Given the description of an element on the screen output the (x, y) to click on. 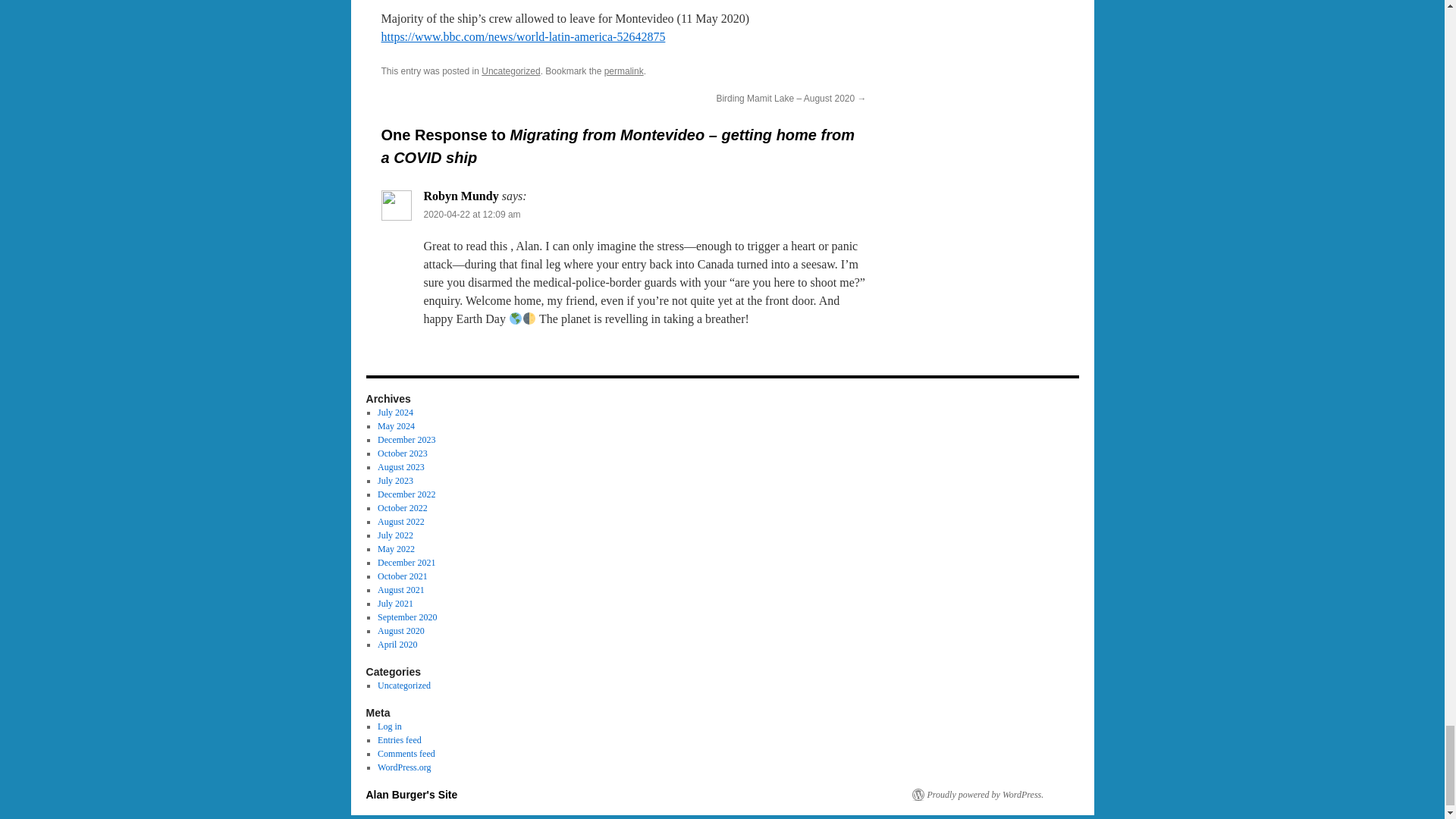
permalink (623, 71)
Uncategorized (510, 71)
May 2024 (395, 425)
2020-04-22 at 12:09 am (471, 214)
Semantic Personal Publishing Platform (977, 794)
July 2024 (395, 412)
December 2023 (406, 439)
